Given the description of an element on the screen output the (x, y) to click on. 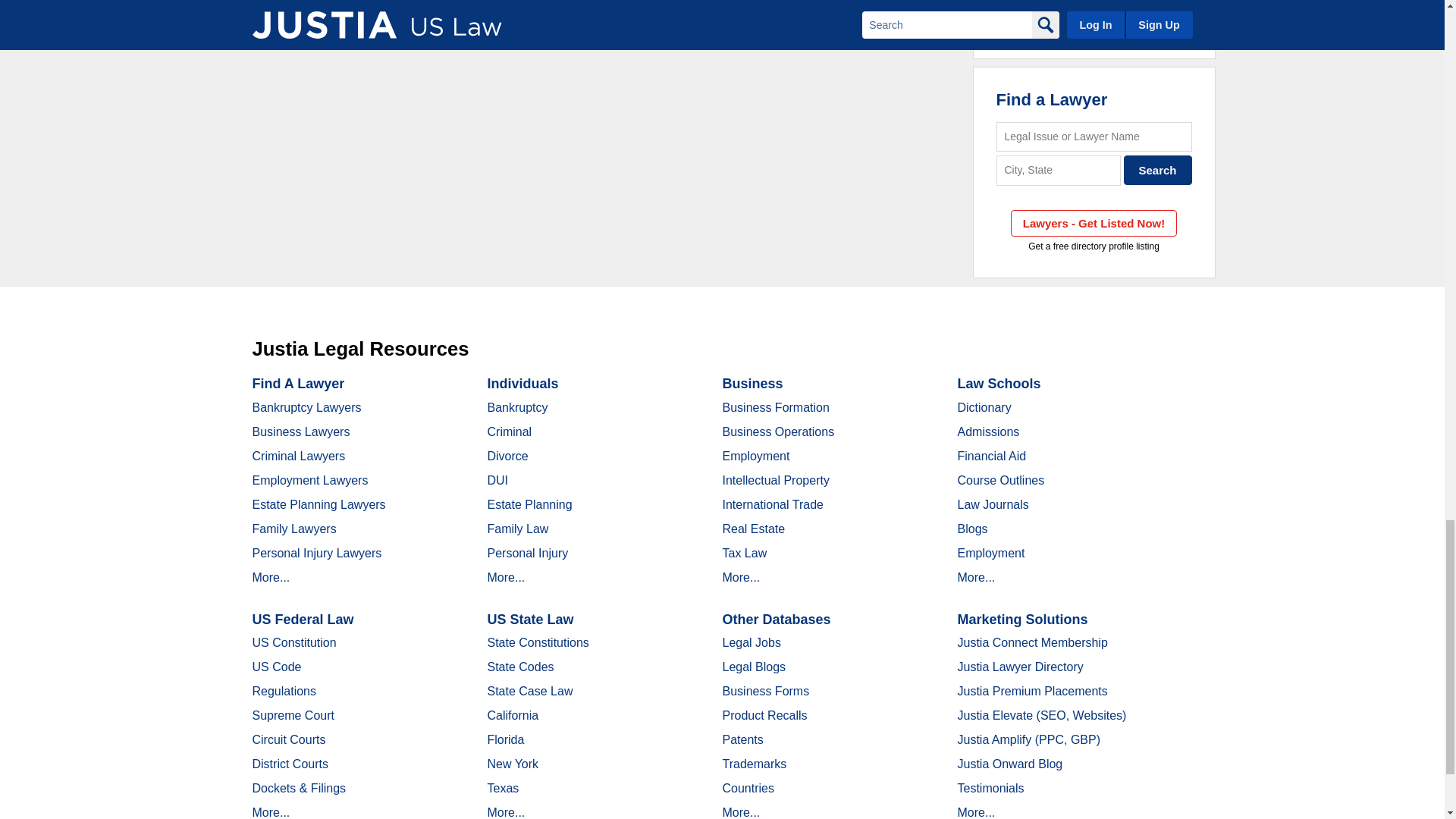
Search (1158, 170)
City, State (1058, 170)
Search (1158, 170)
Legal Issue or Lawyer Name (1093, 136)
